Given the description of an element on the screen output the (x, y) to click on. 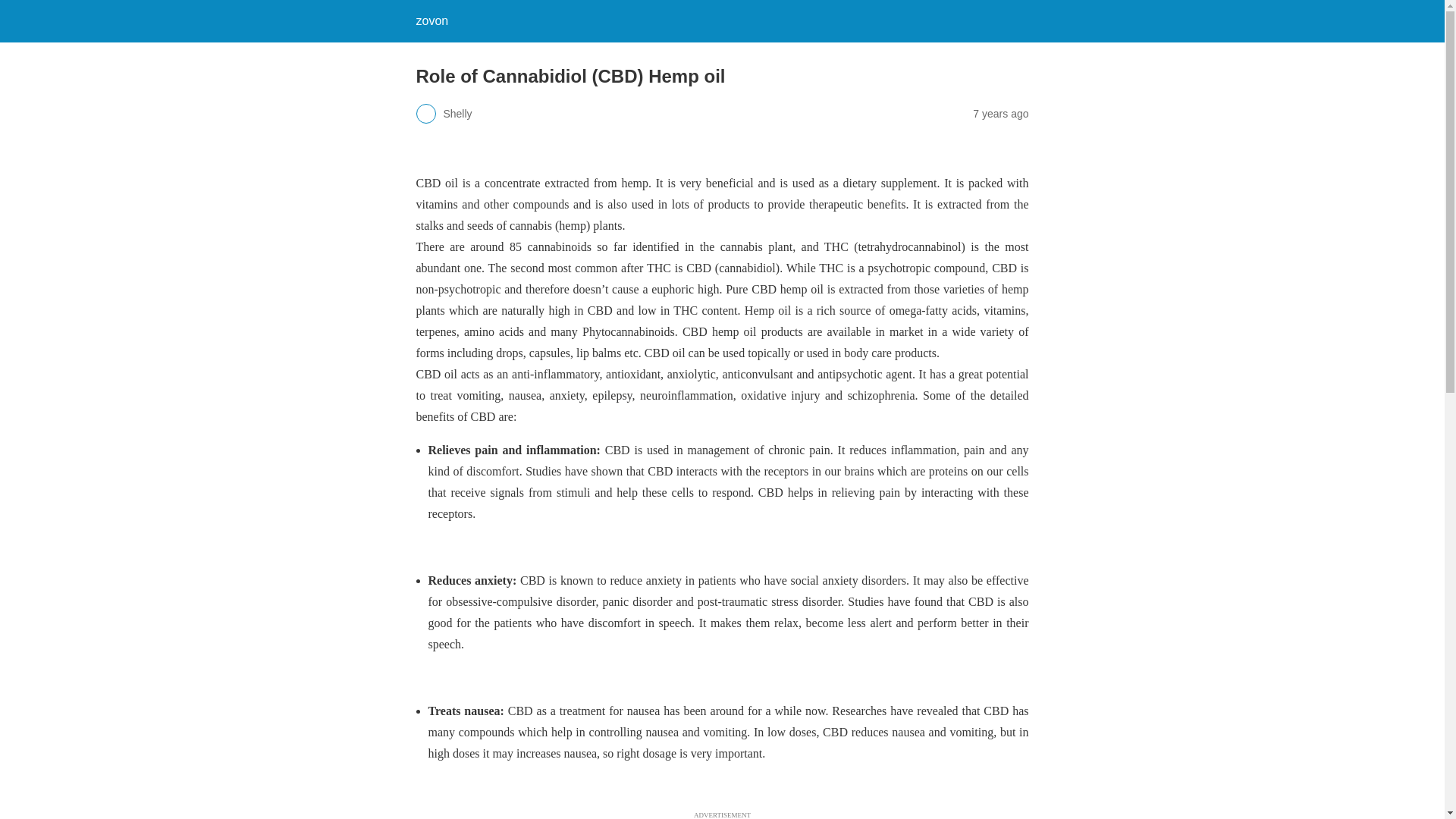
zovon (431, 20)
